Given the description of an element on the screen output the (x, y) to click on. 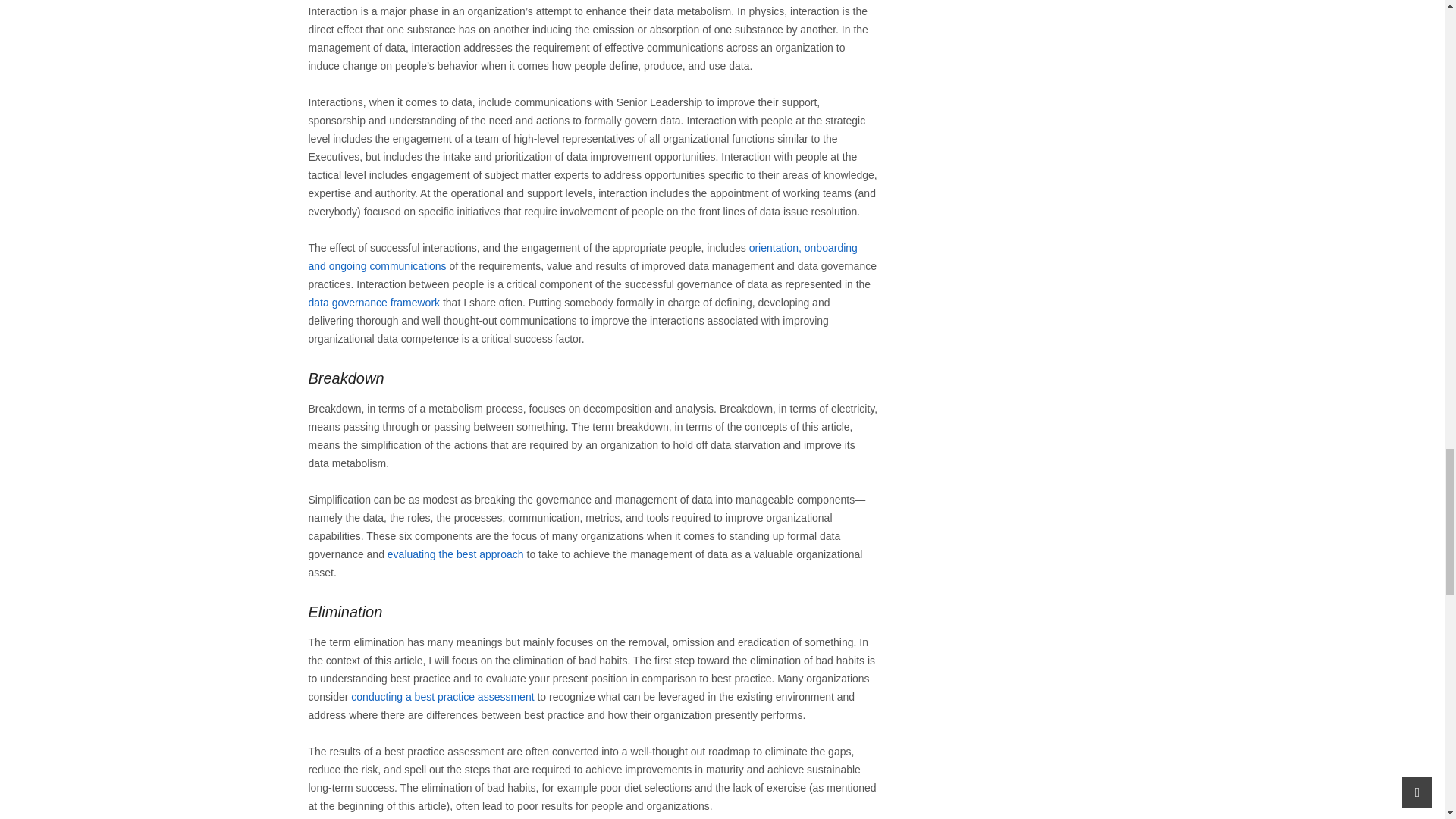
conducting a best practice assessment (442, 696)
orientation, onboarding and ongoing communications (582, 256)
data governance framework (373, 302)
evaluating the best approach (455, 553)
